Given the description of an element on the screen output the (x, y) to click on. 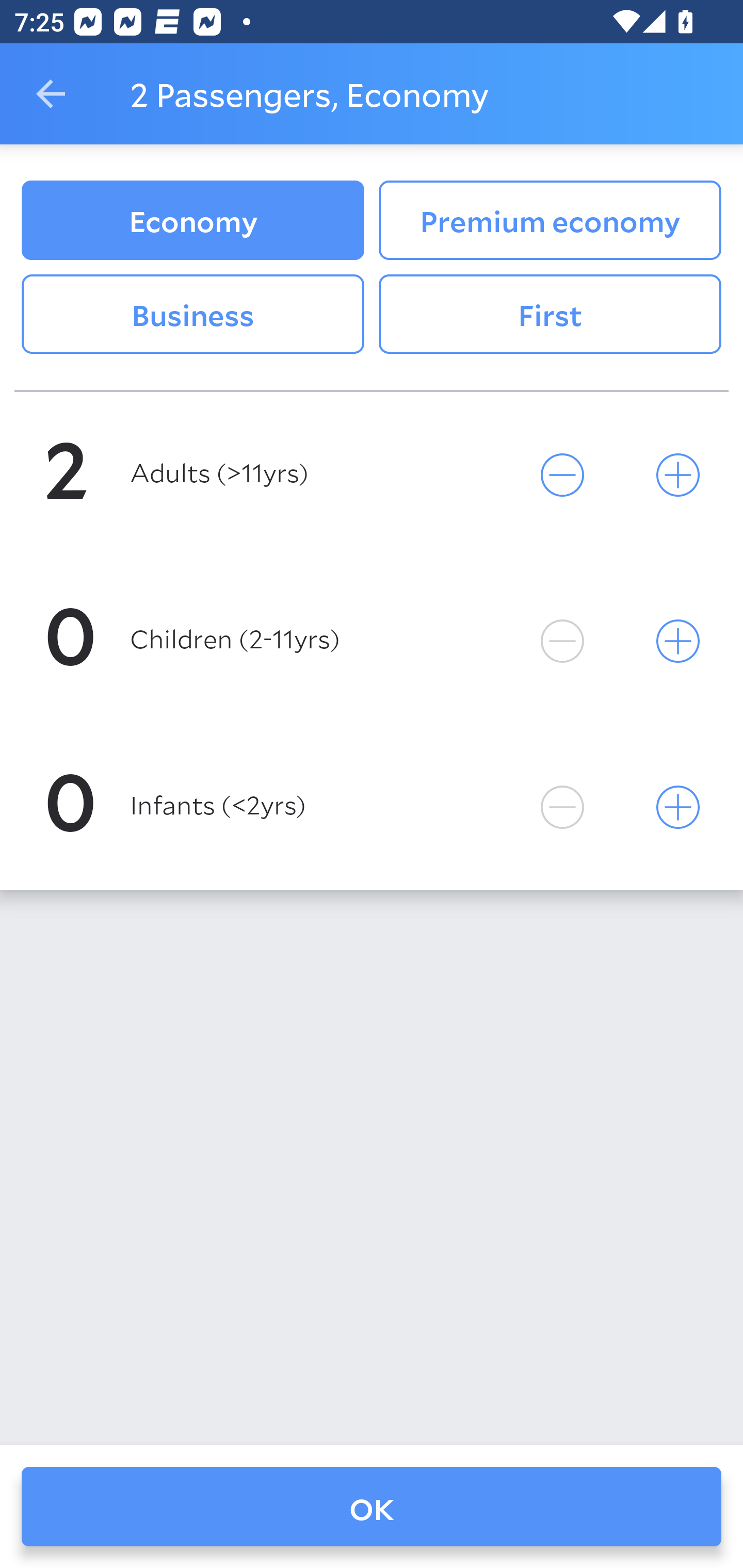
Navigate up (50, 93)
Economy (192, 220)
Premium economy (549, 220)
Business (192, 314)
First (549, 314)
OK (371, 1506)
